Given the description of an element on the screen output the (x, y) to click on. 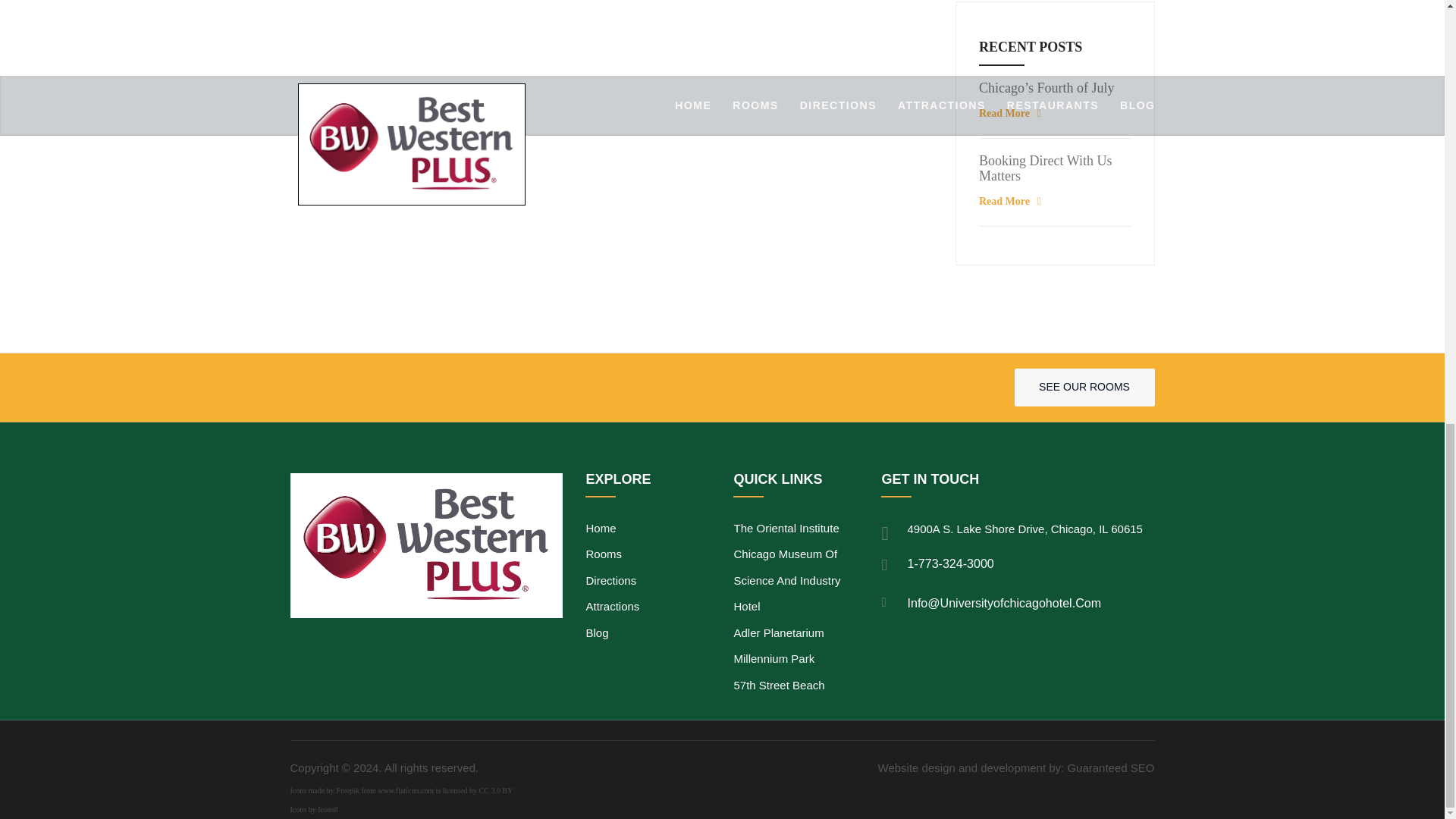
Read More (1011, 201)
Chicago Museum Of Science And Industry Hotel (796, 580)
Attractions (647, 606)
SEE OUR ROOMS (1084, 387)
Directions (647, 581)
Blog (647, 633)
Creative Commons BY 3.0 (496, 790)
Adler Planetarium (796, 633)
The Oriental Institute (796, 528)
Home (647, 528)
Read More (1011, 112)
Millennium Park (796, 659)
Rooms (647, 554)
Flaticon (405, 790)
Freepik (347, 790)
